Given the description of an element on the screen output the (x, y) to click on. 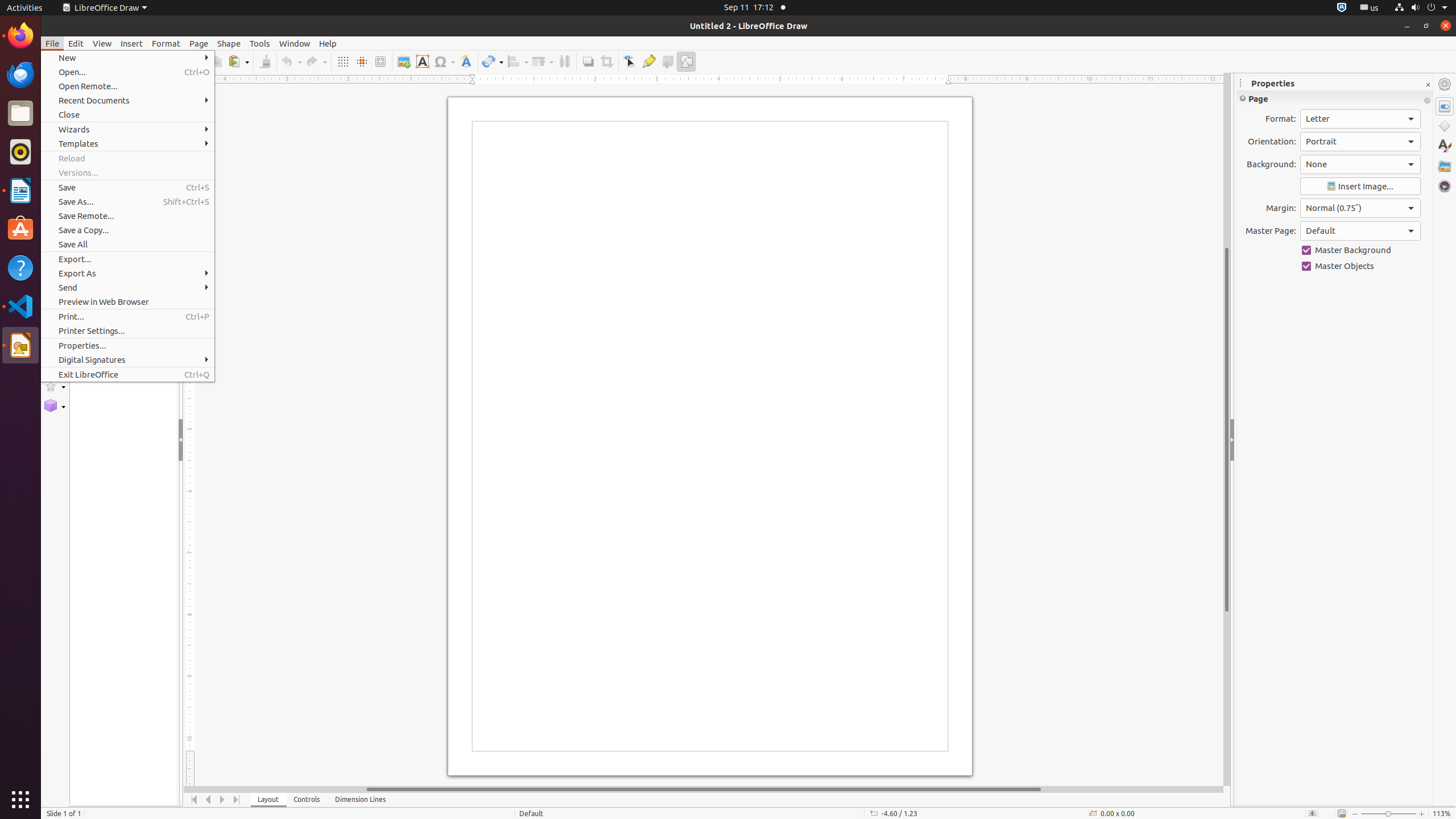
More Options Element type: push-button (1426, 100)
Move Left Element type: push-button (208, 799)
Show Applications Element type: toggle-button (20, 799)
:1.21/StatusNotifierItem Element type: menu (1369, 7)
Controls Element type: page-tab (307, 799)
